Given the description of an element on the screen output the (x, y) to click on. 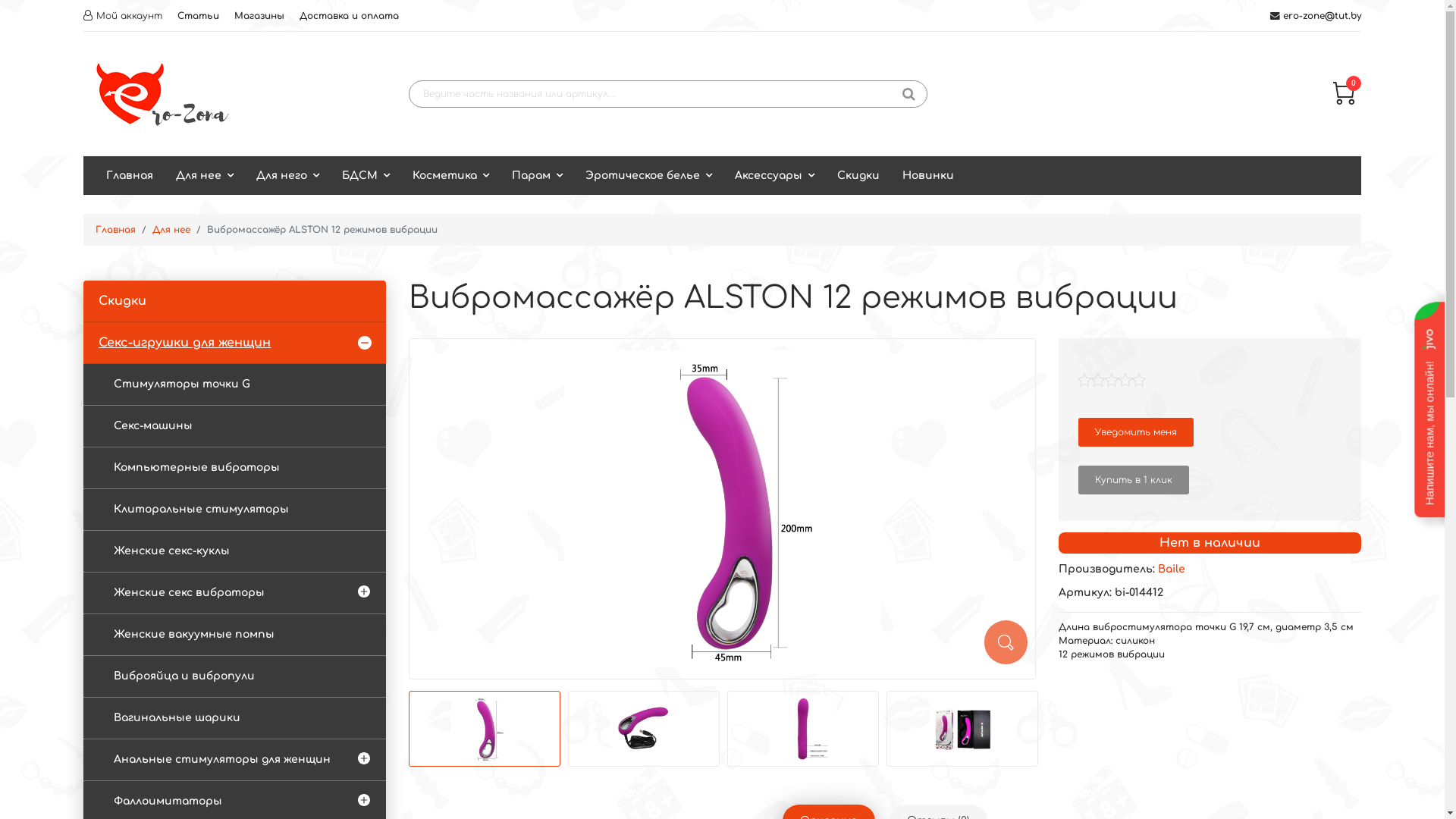
Baile Element type: text (1171, 568)
ero-zone@tut.by Element type: text (1322, 15)
0 Element type: text (1343, 100)
